Given the description of an element on the screen output the (x, y) to click on. 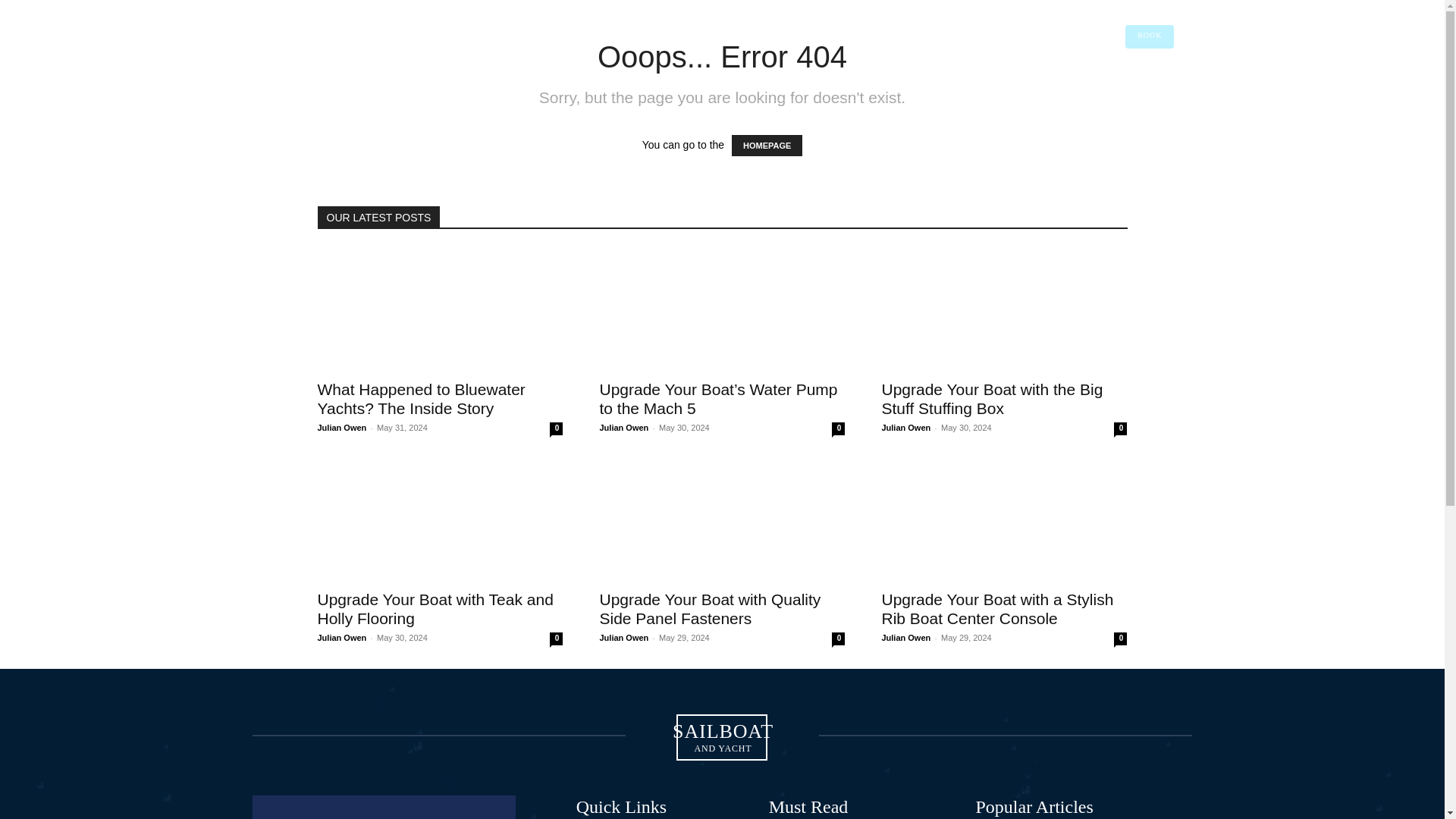
Yacht World (427, 17)
Instagram (1121, 82)
BOOK (1149, 35)
Luxury Yachts (568, 17)
Sailing Tips (634, 17)
BLOG (827, 83)
Blog (682, 17)
Sailboat Guide (331, 31)
What Happened to Bluewater Yachts? The Inside Story (496, 17)
SAILING TIPS (439, 309)
LUXURY YACHTS (757, 83)
Facebook (657, 83)
YACHT WORLD (1097, 82)
Upgrade Your Boat with the Big Stuff Stuffing Box (443, 83)
